Given the description of an element on the screen output the (x, y) to click on. 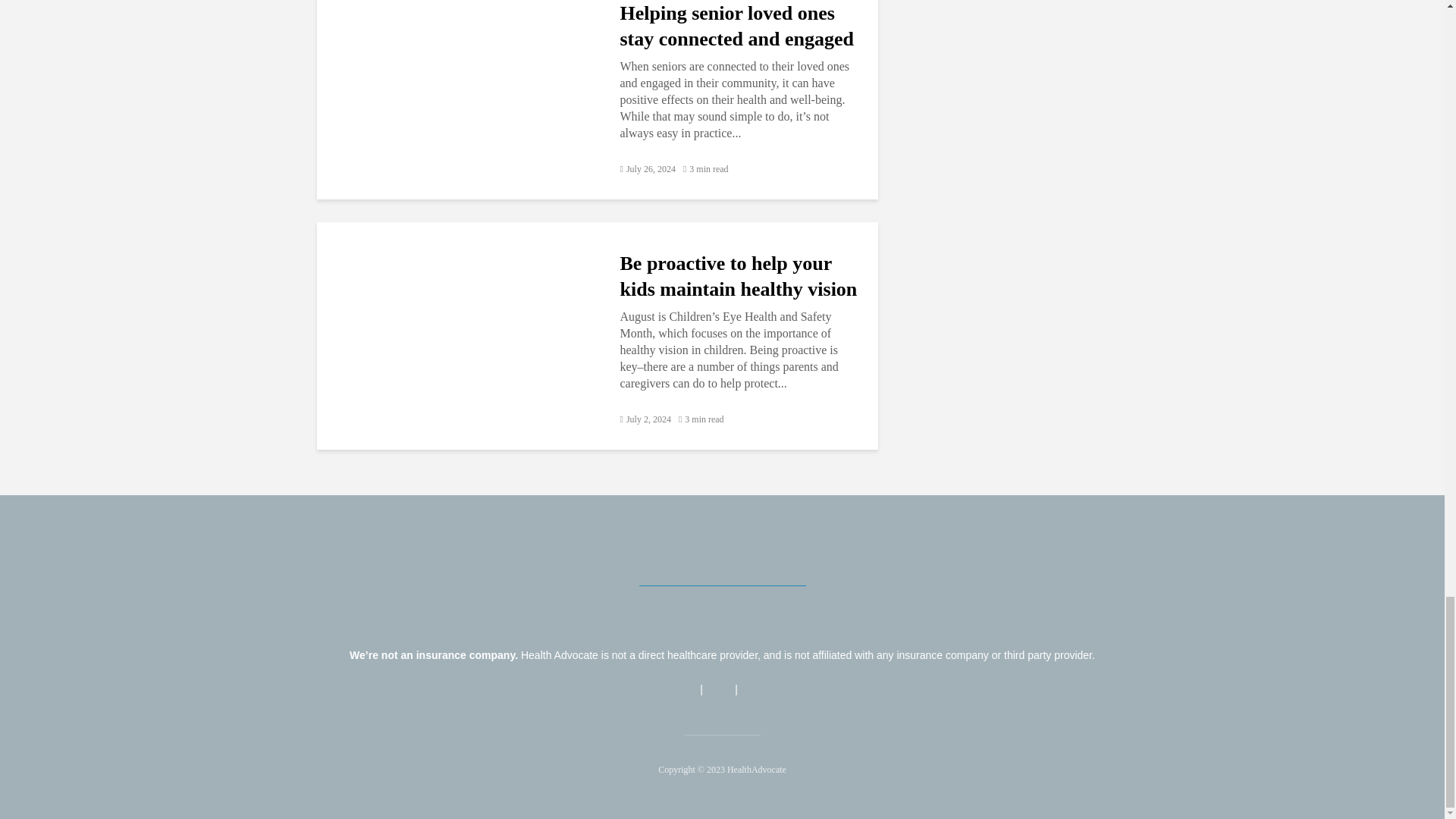
Be proactive to help your kids maintain healthy vision (456, 334)
Helping senior loved ones stay connected and engaged (456, 83)
